Given the description of an element on the screen output the (x, y) to click on. 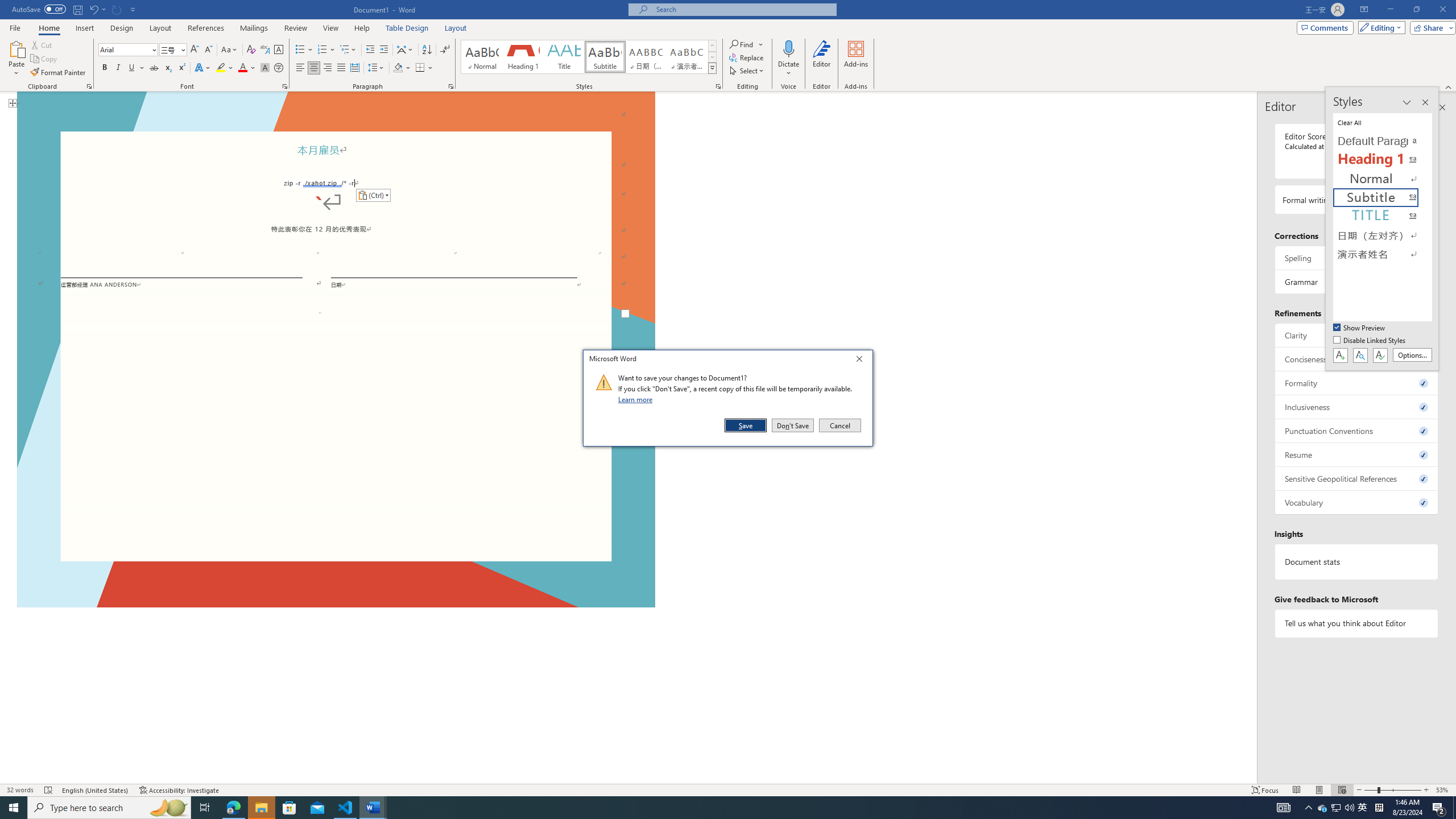
Default Paragraph Font (1382, 140)
